Given the description of an element on the screen output the (x, y) to click on. 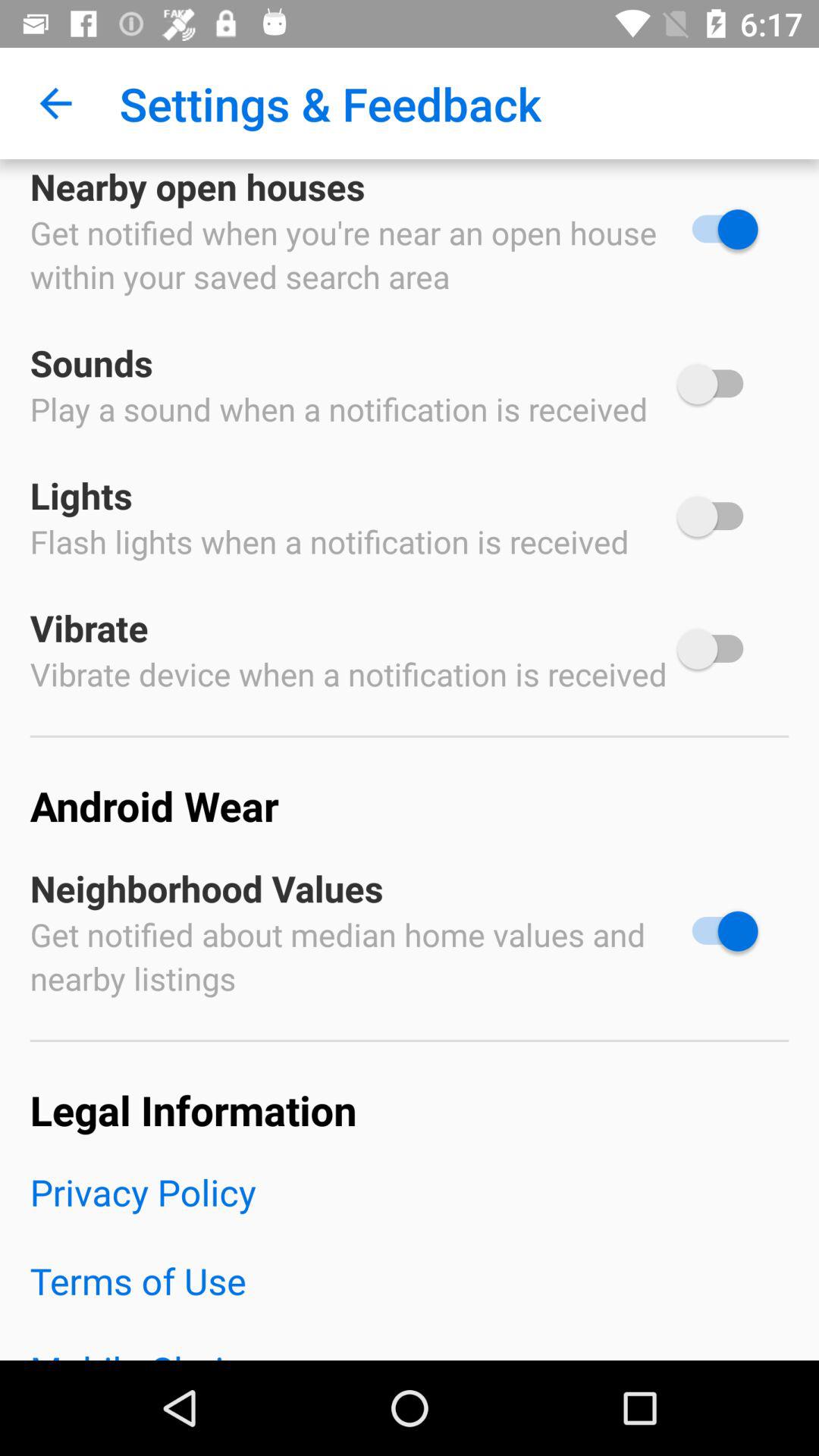
toggle on (717, 649)
